Given the description of an element on the screen output the (x, y) to click on. 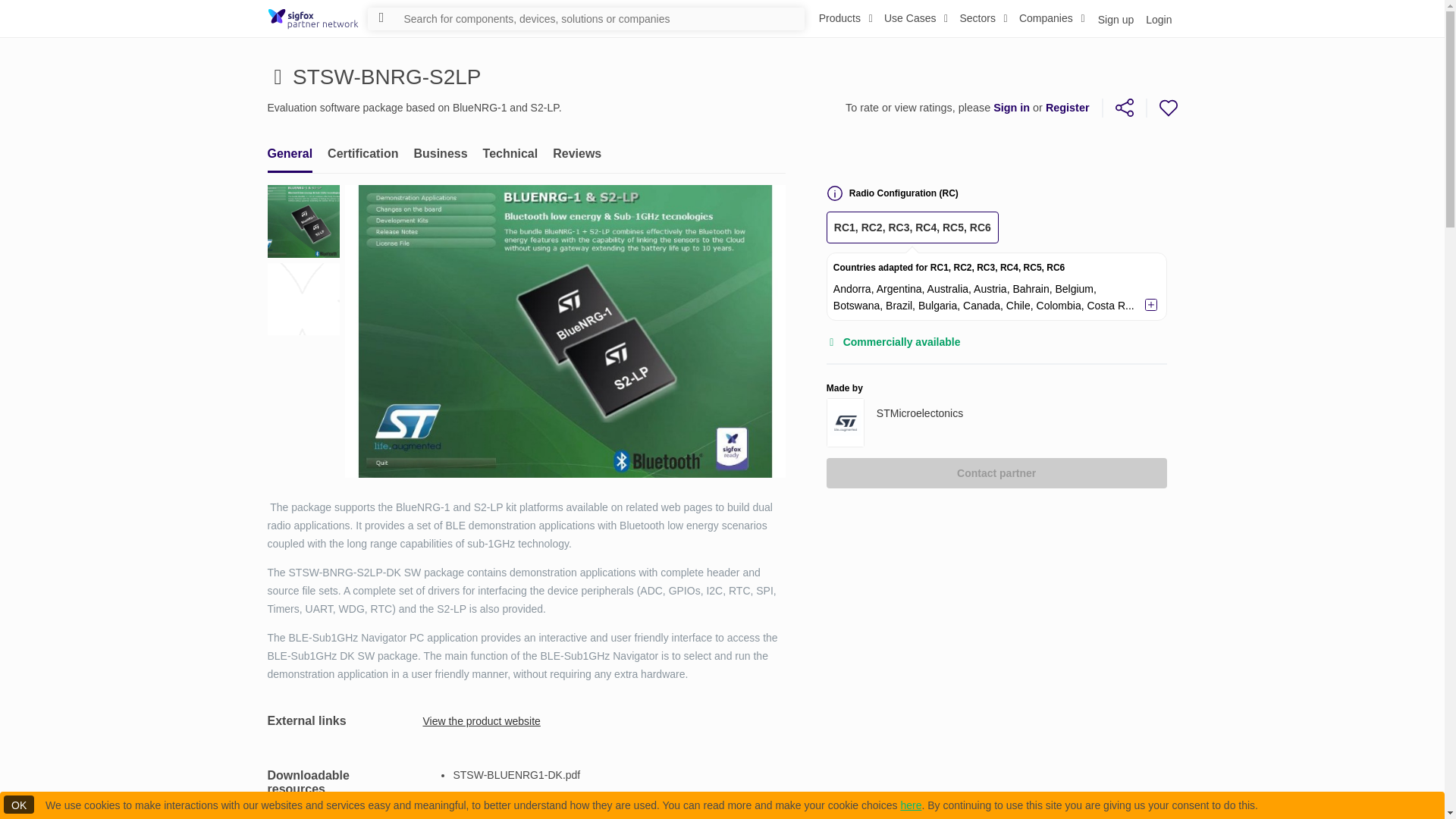
Login (1157, 18)
Sectors (983, 18)
Sign up (525, 153)
Products (1114, 18)
Companies (846, 18)
Use Cases (433, 153)
